Given the description of an element on the screen output the (x, y) to click on. 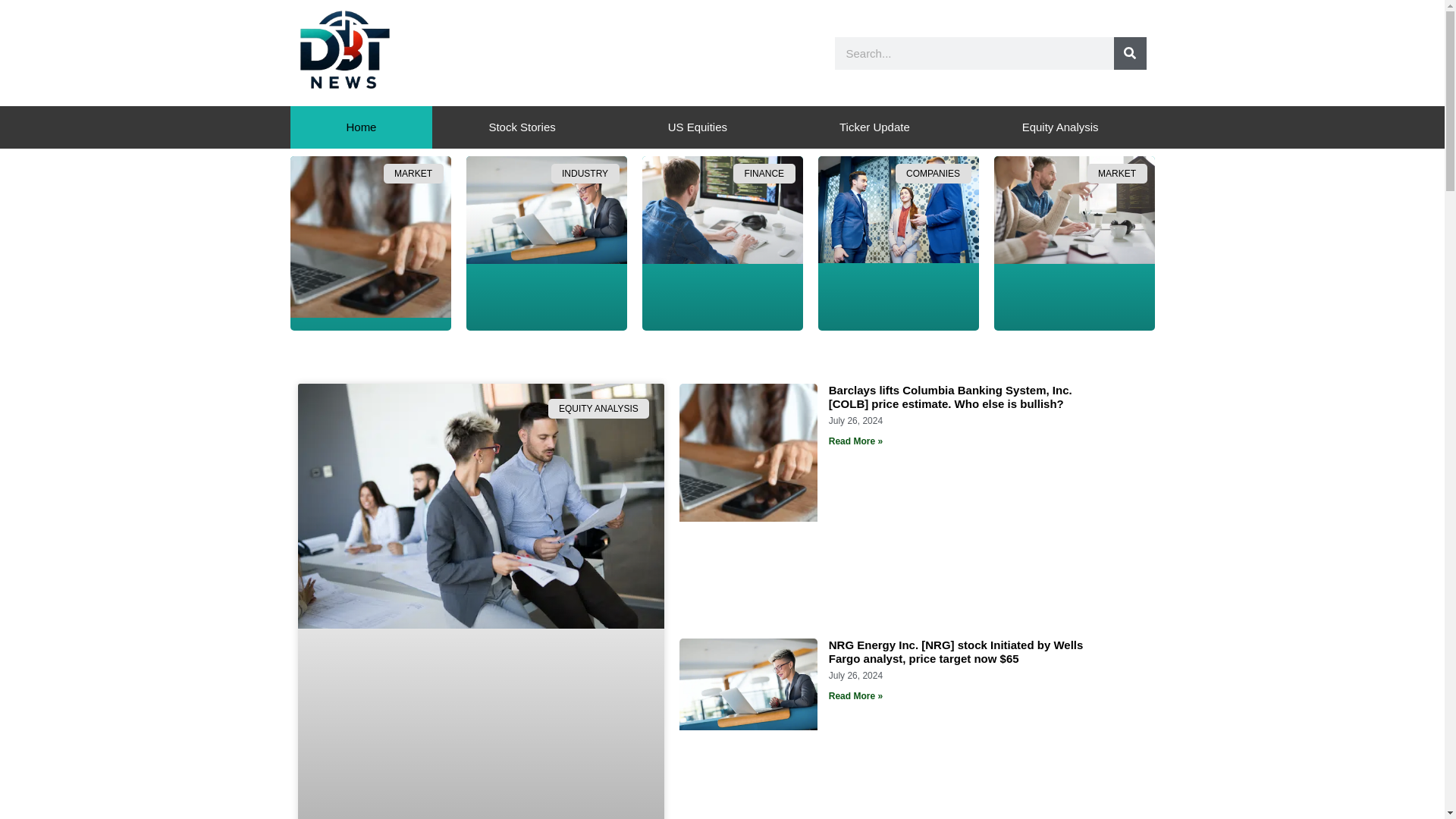
Equity Analysis (1060, 127)
Stock Stories (521, 127)
US Equities (697, 127)
Home (360, 127)
Ticker Update (874, 127)
